Given the description of an element on the screen output the (x, y) to click on. 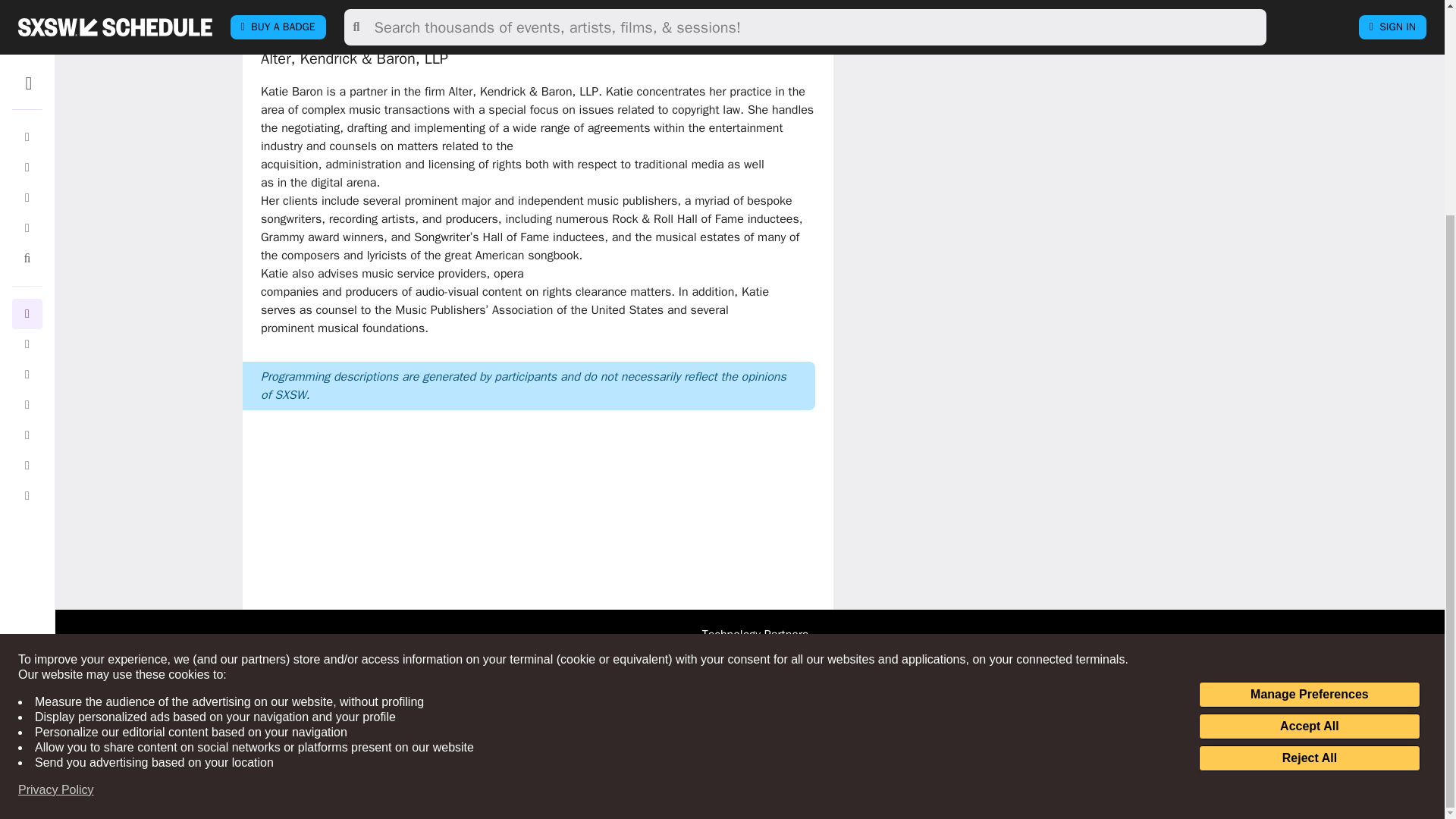
Privacy Policy (55, 507)
Manage Preferences (1309, 412)
Reject All (1309, 475)
Accept All (1309, 444)
